Given the description of an element on the screen output the (x, y) to click on. 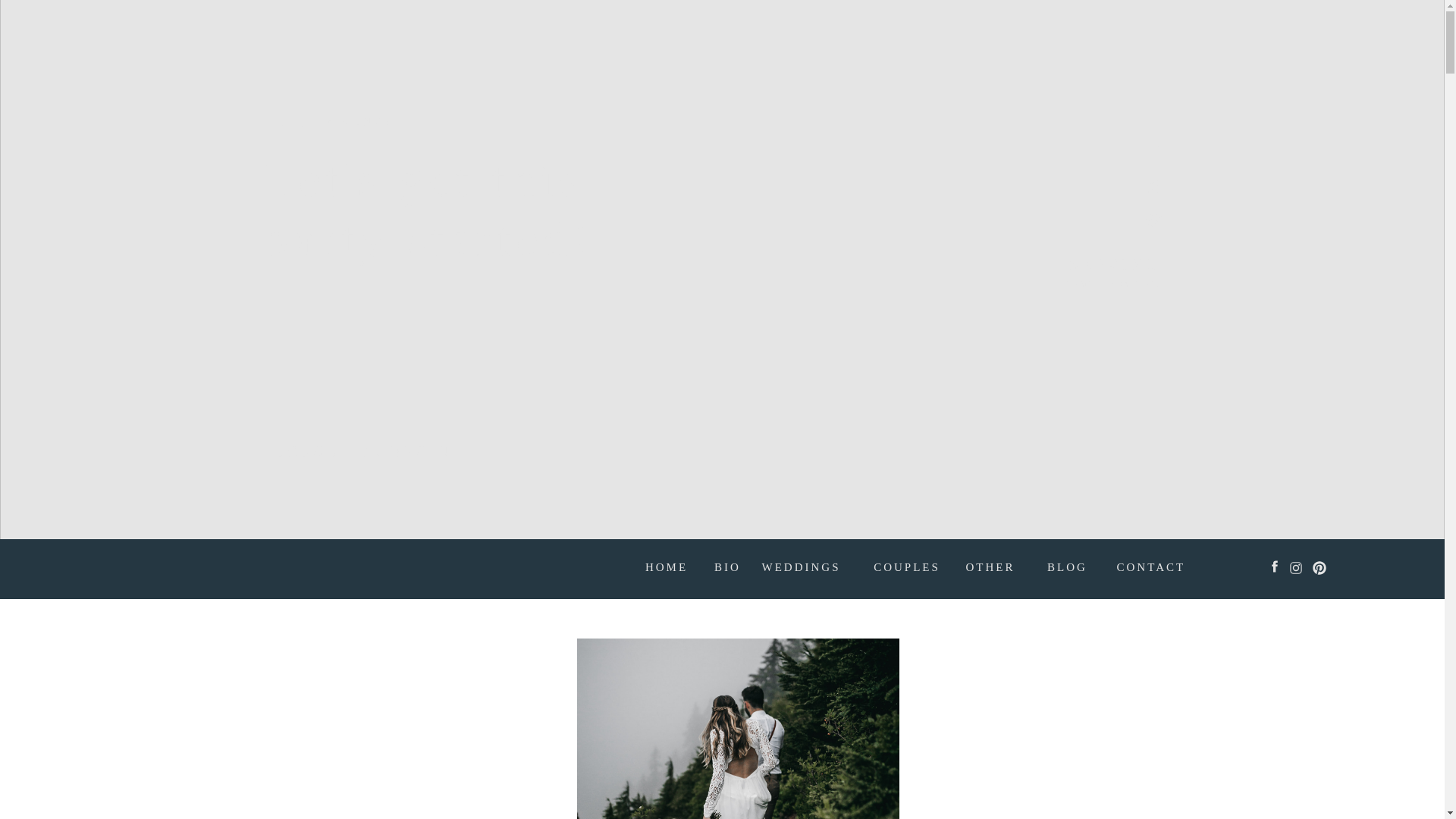
OTHER (990, 569)
BLOG (1066, 569)
HOME (666, 569)
Should I Elope? (737, 728)
CONTACT (1148, 569)
BIO (726, 569)
WEDDINGS (794, 569)
COUPLES (907, 569)
